Given the description of an element on the screen output the (x, y) to click on. 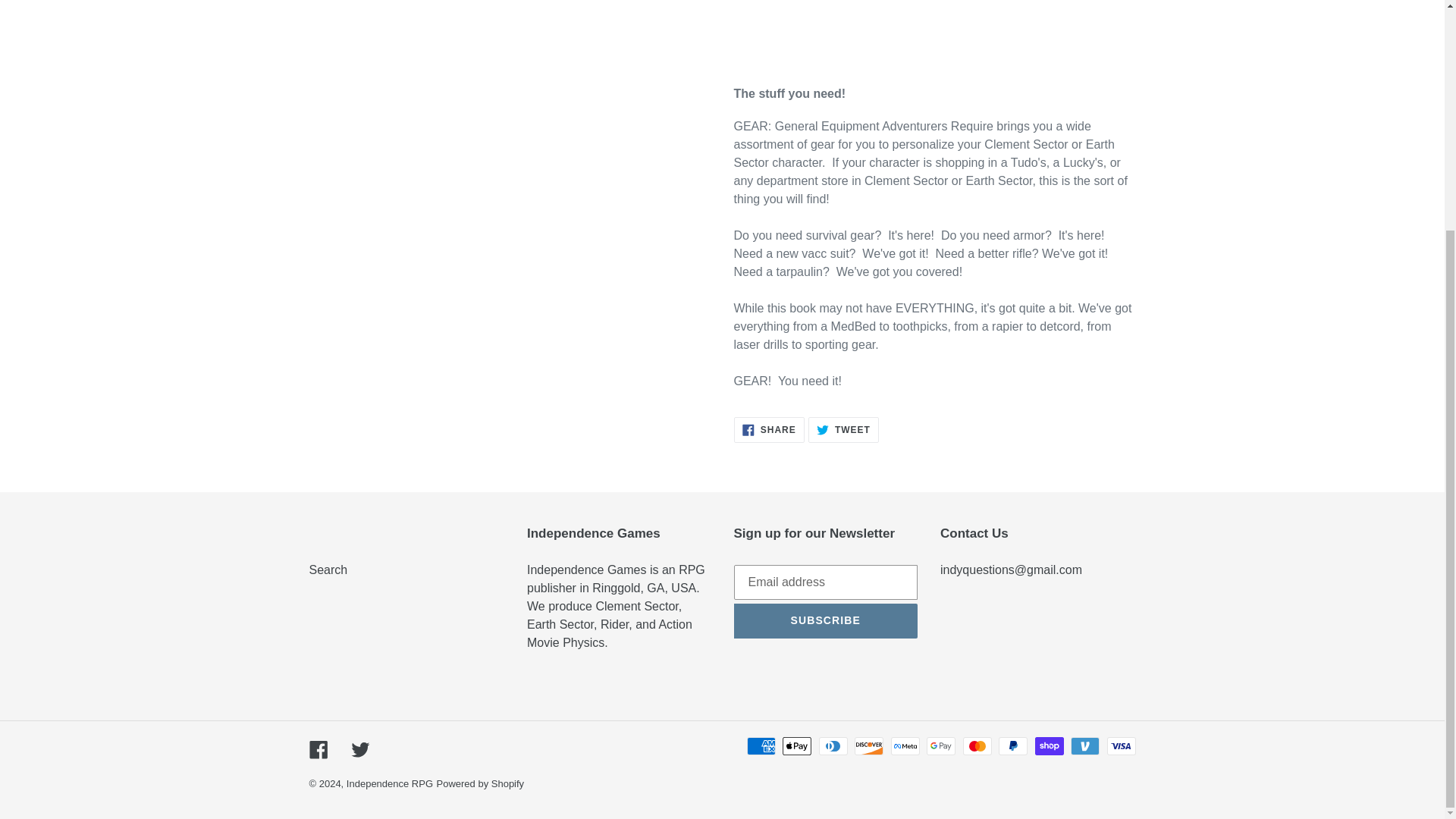
Facebook (318, 749)
Search (769, 429)
Powered by Shopify (843, 429)
Twitter (327, 569)
SUBSCRIBE (480, 783)
Independence RPG (359, 749)
